Given the description of an element on the screen output the (x, y) to click on. 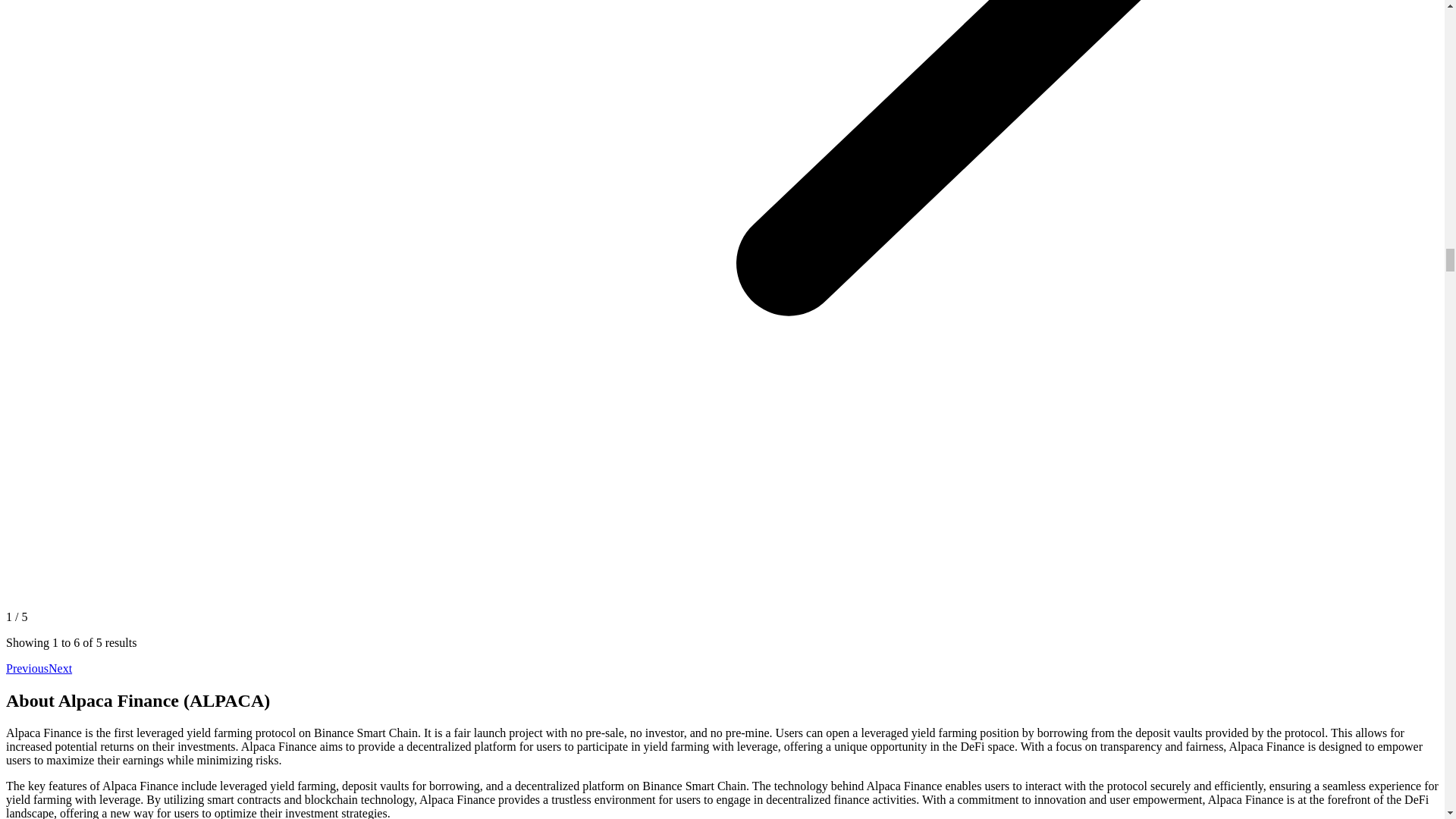
Next (59, 667)
Previous (26, 667)
